Given the description of an element on the screen output the (x, y) to click on. 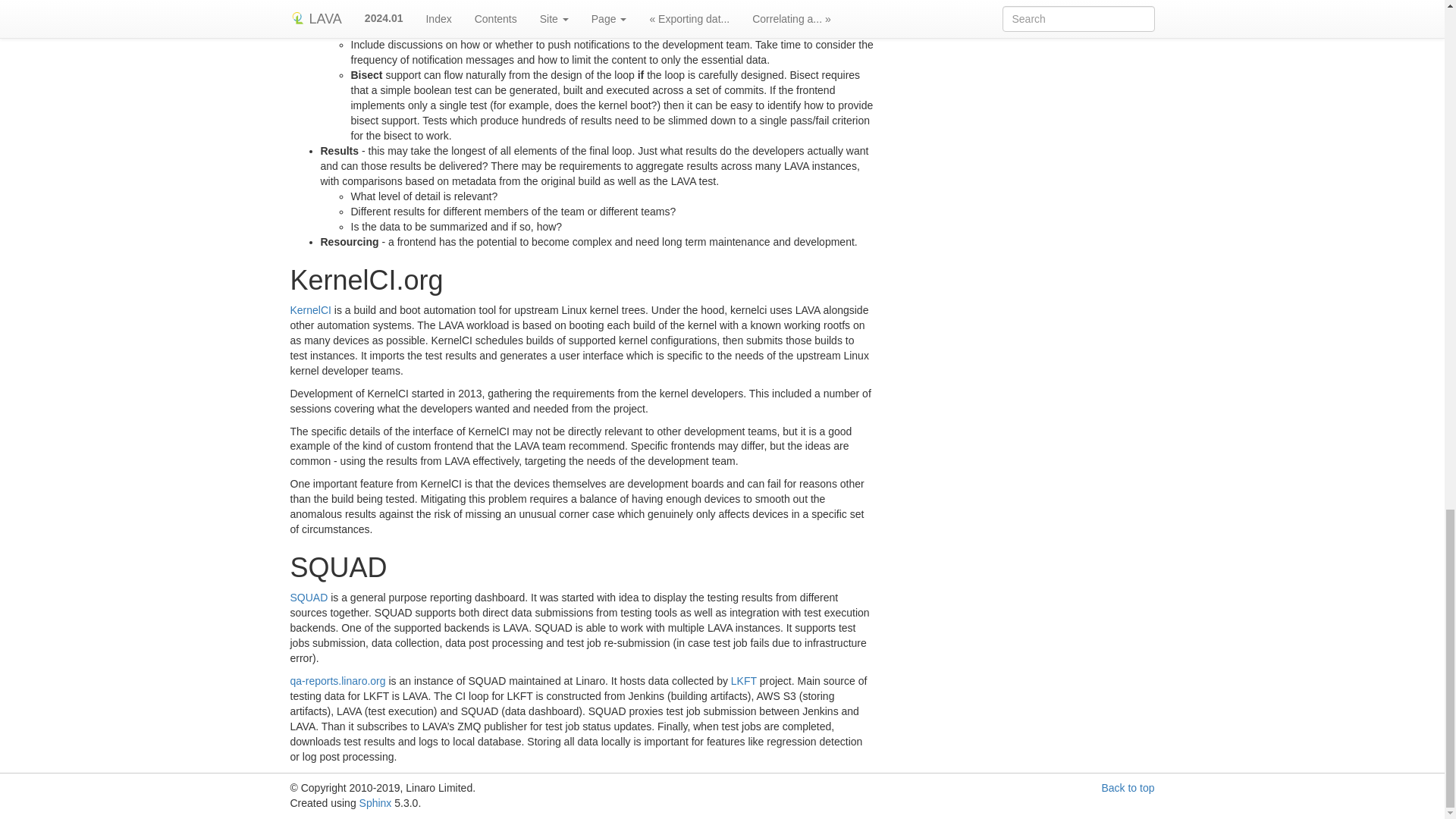
qa-reports.linaro.org (337, 680)
KernelCI (309, 309)
Back to top (1127, 787)
LKFT (743, 680)
SQUAD (308, 597)
Sphinx (375, 802)
